Given the description of an element on the screen output the (x, y) to click on. 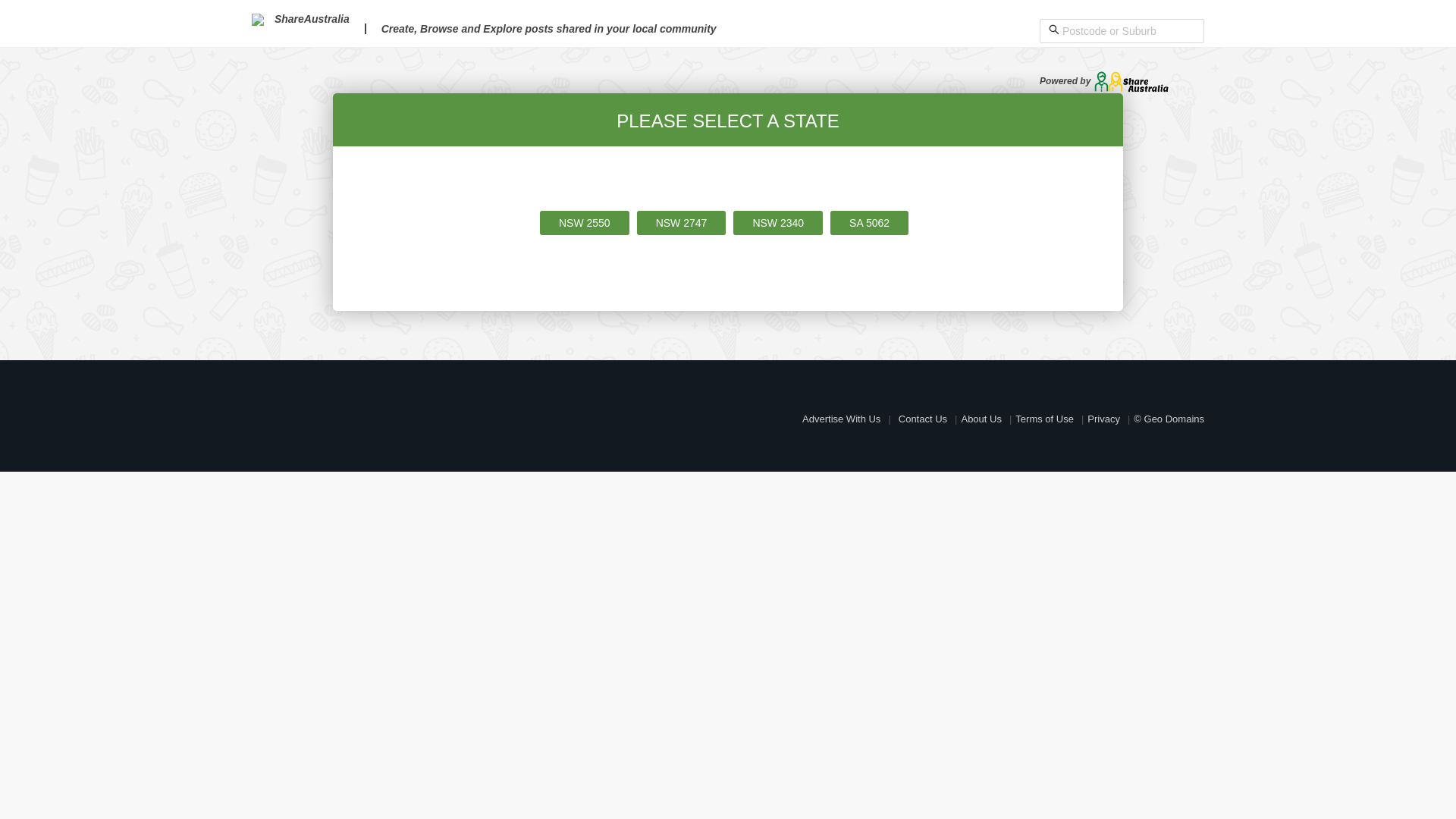
ShareAustralia Element type: text (300, 18)
NSW 2747 Element type: text (681, 222)
Advertise With Us Element type: text (841, 418)
SA 5062 Element type: text (869, 222)
Powered by Element type: text (1104, 80)
NSW 2550 Element type: text (584, 222)
Terms of Use Element type: text (1044, 418)
About Us Element type: text (980, 418)
Contact Us Element type: text (922, 418)
Privacy Element type: text (1103, 418)
NSW 2340 Element type: text (777, 222)
